Given the description of an element on the screen output the (x, y) to click on. 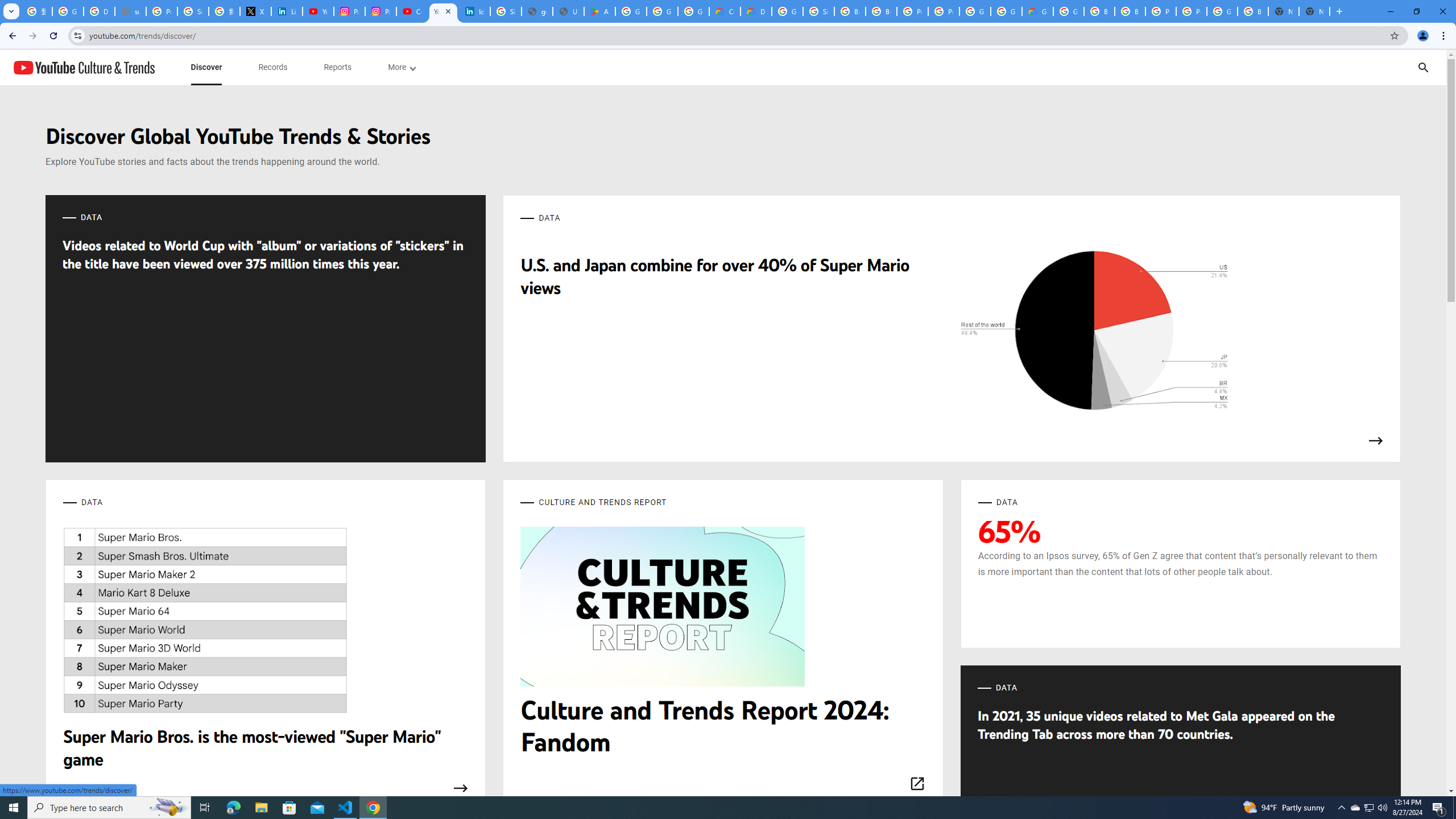
Customer Care | Google Cloud (724, 11)
Android Apps on Google Play (599, 11)
support.google.com - Network error (130, 11)
Browse Chrome as a guest - Computer - Google Chrome Help (849, 11)
Google Cloud Platform (1222, 11)
Google Cloud Estimate Summary (1037, 11)
Google Cloud Platform (787, 11)
